Given the description of an element on the screen output the (x, y) to click on. 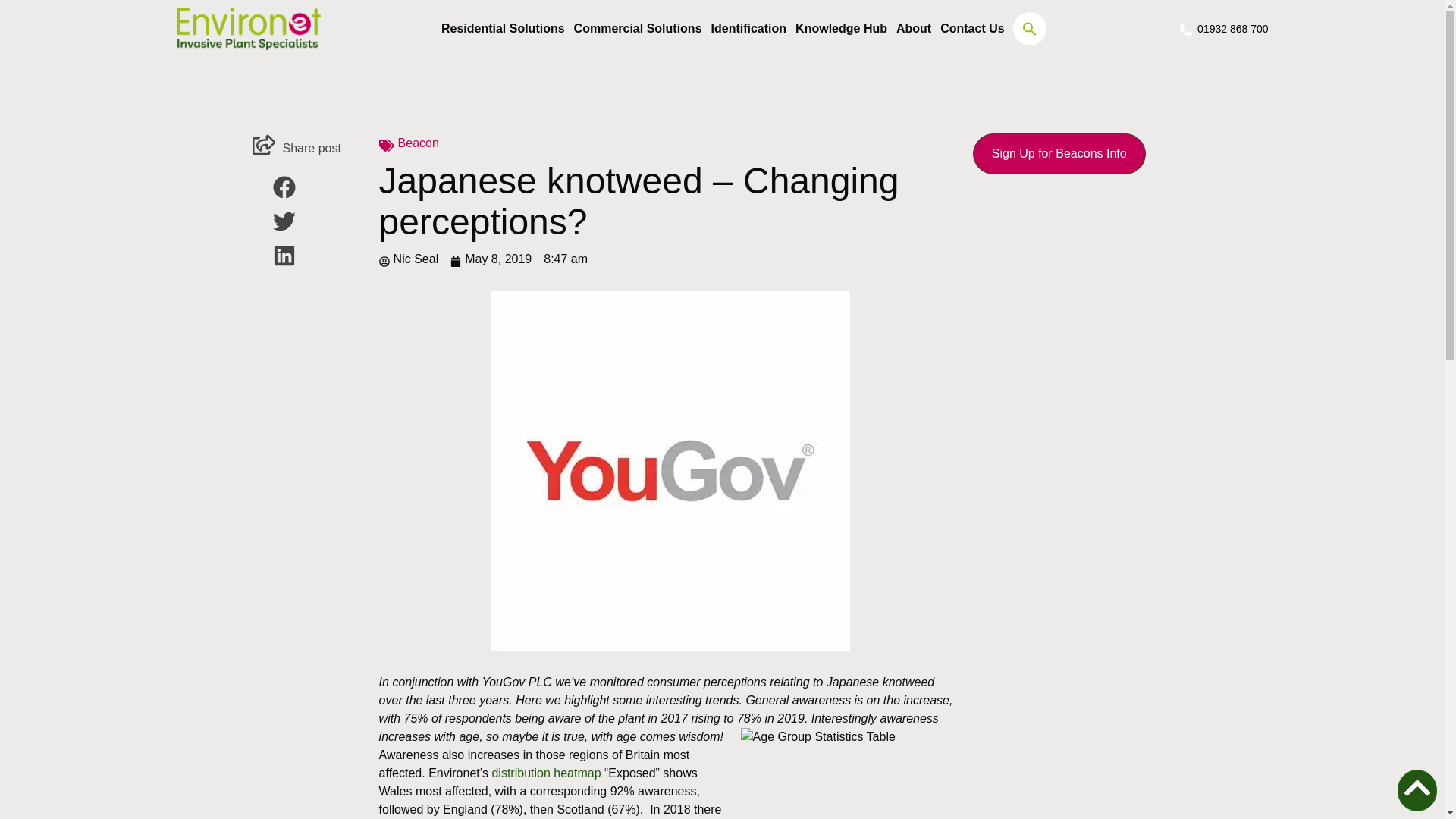
Contact Us (972, 28)
Commercial Solutions (637, 28)
Identification (749, 28)
01932 868 700 (1222, 28)
About (913, 28)
Residential Solutions (502, 28)
Knowledge Hub (840, 28)
